Given the description of an element on the screen output the (x, y) to click on. 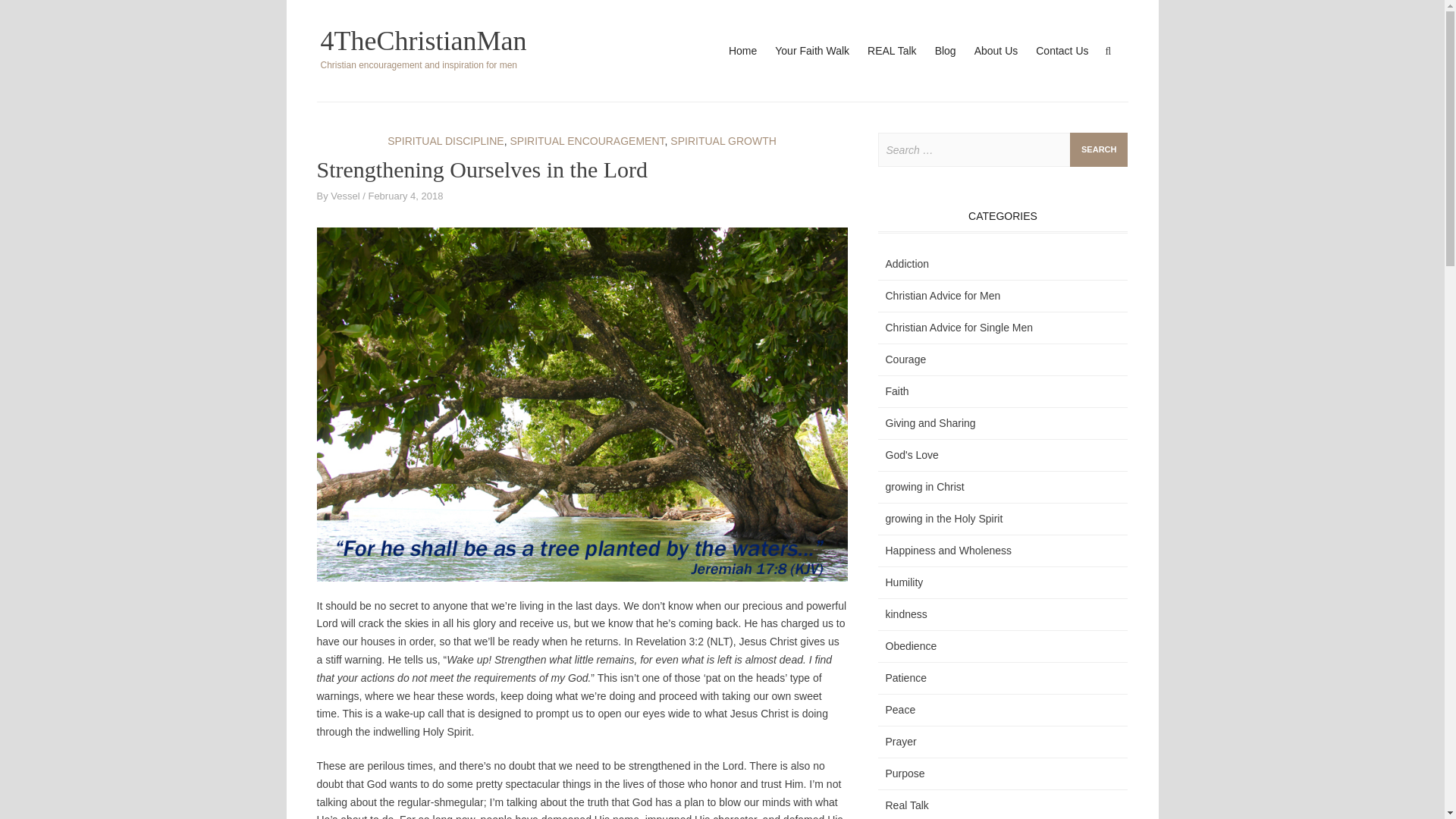
Faith (896, 390)
growing in Christ (924, 486)
Giving and Sharing (930, 422)
Blog (945, 50)
Search (1098, 149)
4TheChristianMan (422, 40)
SPIRITUAL DISCIPLINE (445, 141)
growing in the Holy Spirit (944, 518)
Vessel (344, 195)
Courage (905, 358)
Christian Advice for Men (943, 295)
REAL Talk (892, 50)
Your Faith Walk (812, 50)
Contact Us (1061, 50)
